Given the description of an element on the screen output the (x, y) to click on. 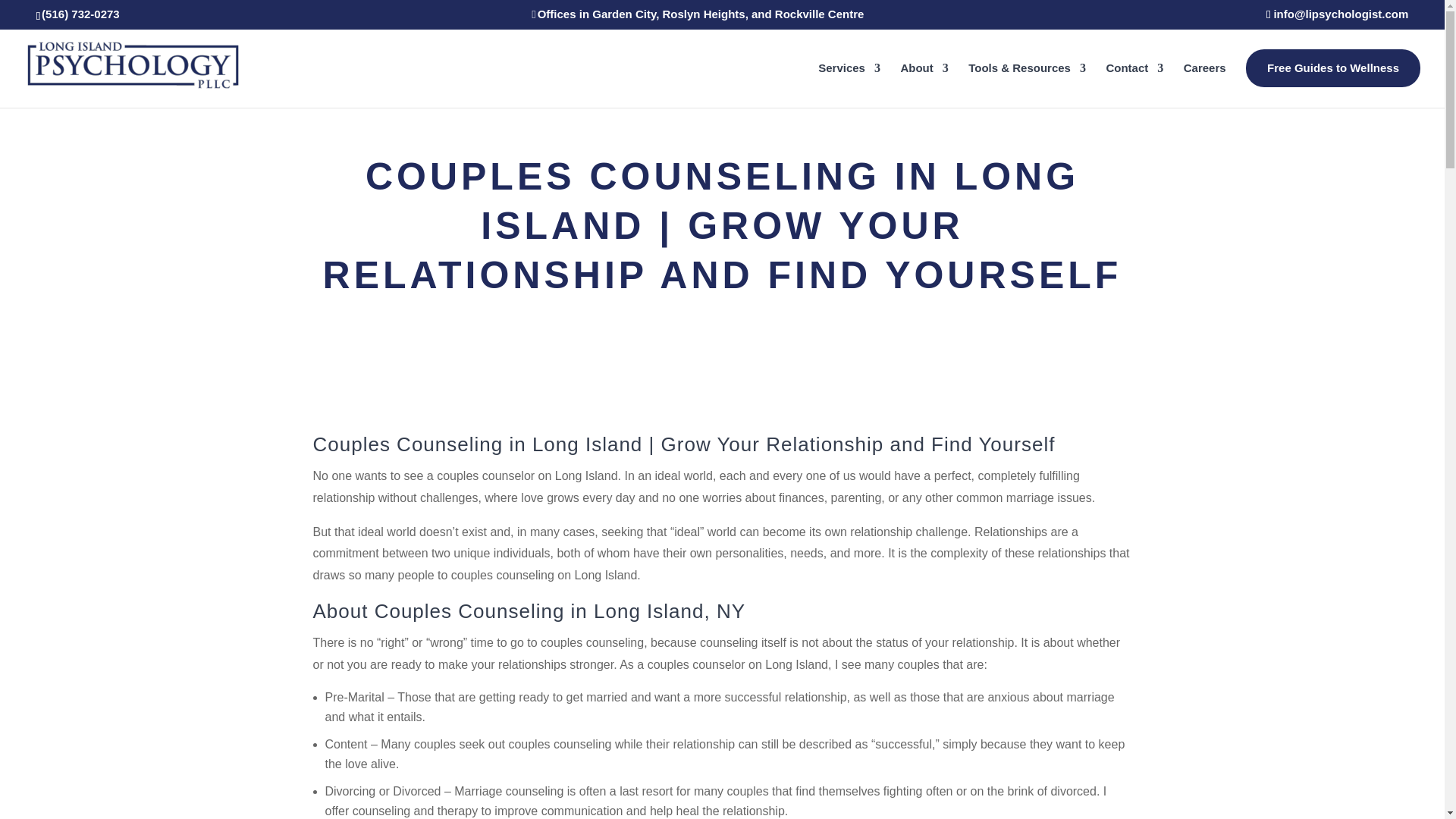
Services (849, 81)
About (923, 81)
Contact (1134, 81)
